Given the description of an element on the screen output the (x, y) to click on. 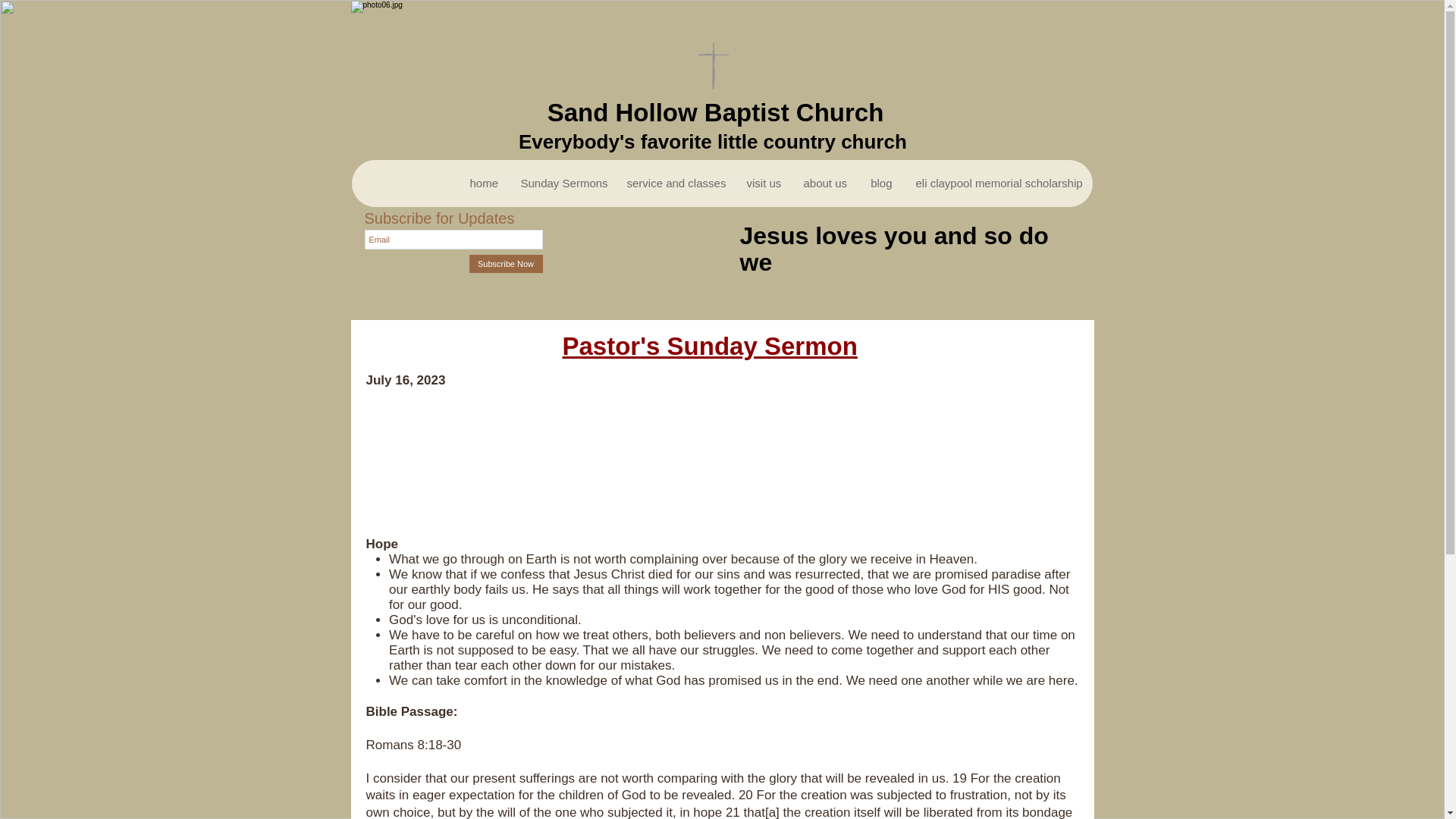
photo06.jpg (720, 70)
Sunday Sermons (561, 183)
Subscribe Now (504, 263)
about us (825, 183)
visit us (761, 183)
blog (881, 183)
home (483, 183)
service and classes (673, 183)
eli claypool memorial scholarship (998, 183)
Sand Hollow Baptist Church (715, 112)
